Given the description of an element on the screen output the (x, y) to click on. 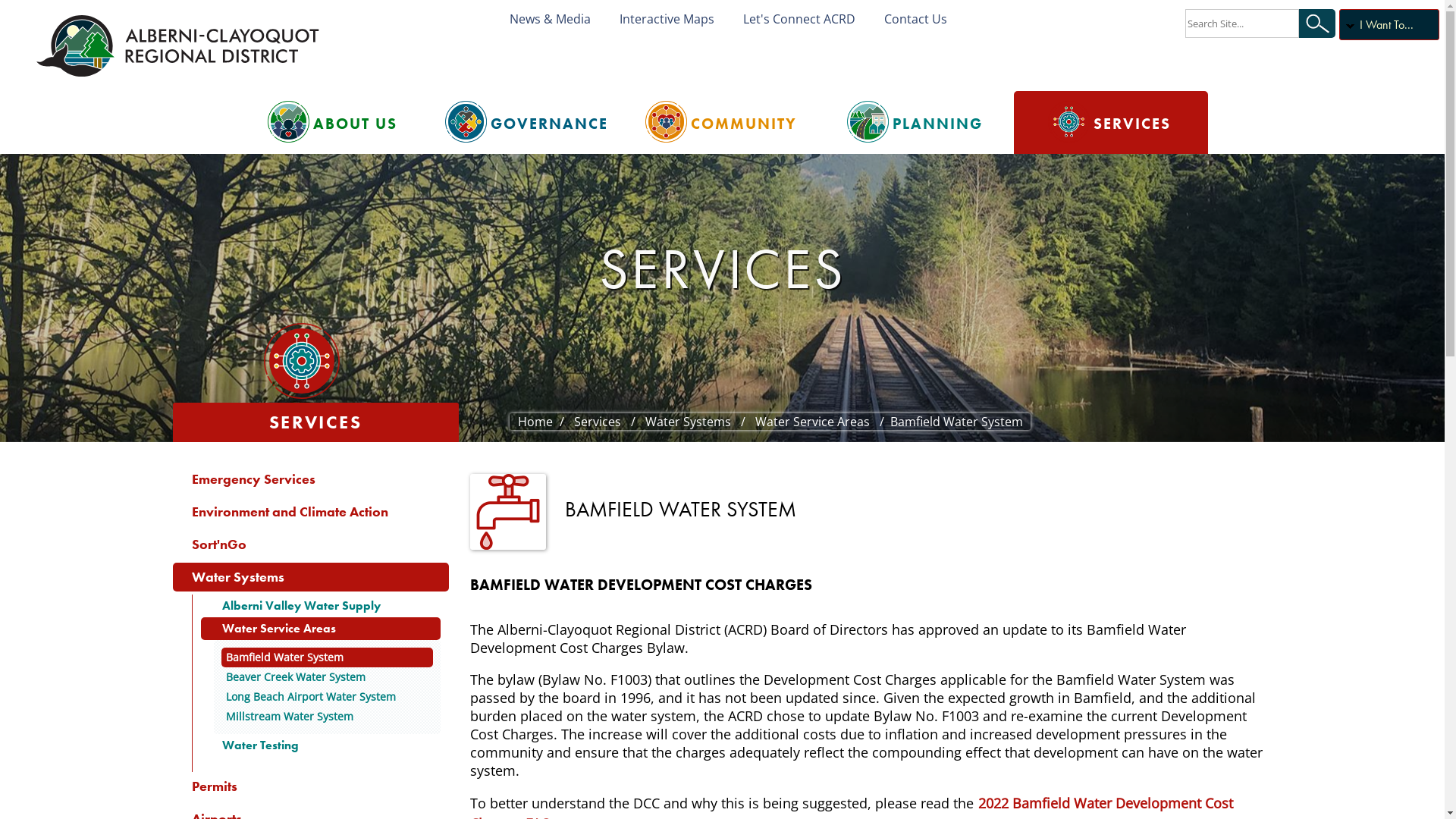
Environment and Climate Action Element type: text (310, 511)
Contact Us Element type: text (928, 18)
SERVICES Element type: text (315, 421)
Bamfield Water System Element type: text (327, 657)
Long Beach Airport Water System Element type: text (327, 696)
Services Element type: hover (722, 290)
Water Systems Element type: text (310, 576)
Alberni Valley Water Supply Element type: text (319, 605)
Home Element type: text (535, 421)
Permits Element type: text (310, 785)
Water Service Areas Element type: text (319, 628)
Let's Connect ACRD Element type: text (811, 18)
News & Media Element type: text (562, 18)
ABOUT US Element type: text (333, 122)
Water Systems Element type: text (687, 421)
I Want To... Element type: text (1389, 24)
Return to Homepage Element type: hover (180, 45)
PLANNING Element type: text (916, 122)
Sort'nGo Element type: text (310, 544)
Interactive Maps Element type: text (679, 18)
Millstream Water System Element type: text (327, 716)
Beaver Creek Water System Element type: text (327, 677)
Services Element type: text (597, 421)
Emergency Services Element type: text (310, 478)
GOVERNANCE Element type: text (527, 122)
Water Service Areas Element type: text (812, 421)
SERVICES Element type: text (1110, 122)
COMMUNITY Element type: text (721, 122)
Water Testing Element type: text (319, 745)
